Given the description of an element on the screen output the (x, y) to click on. 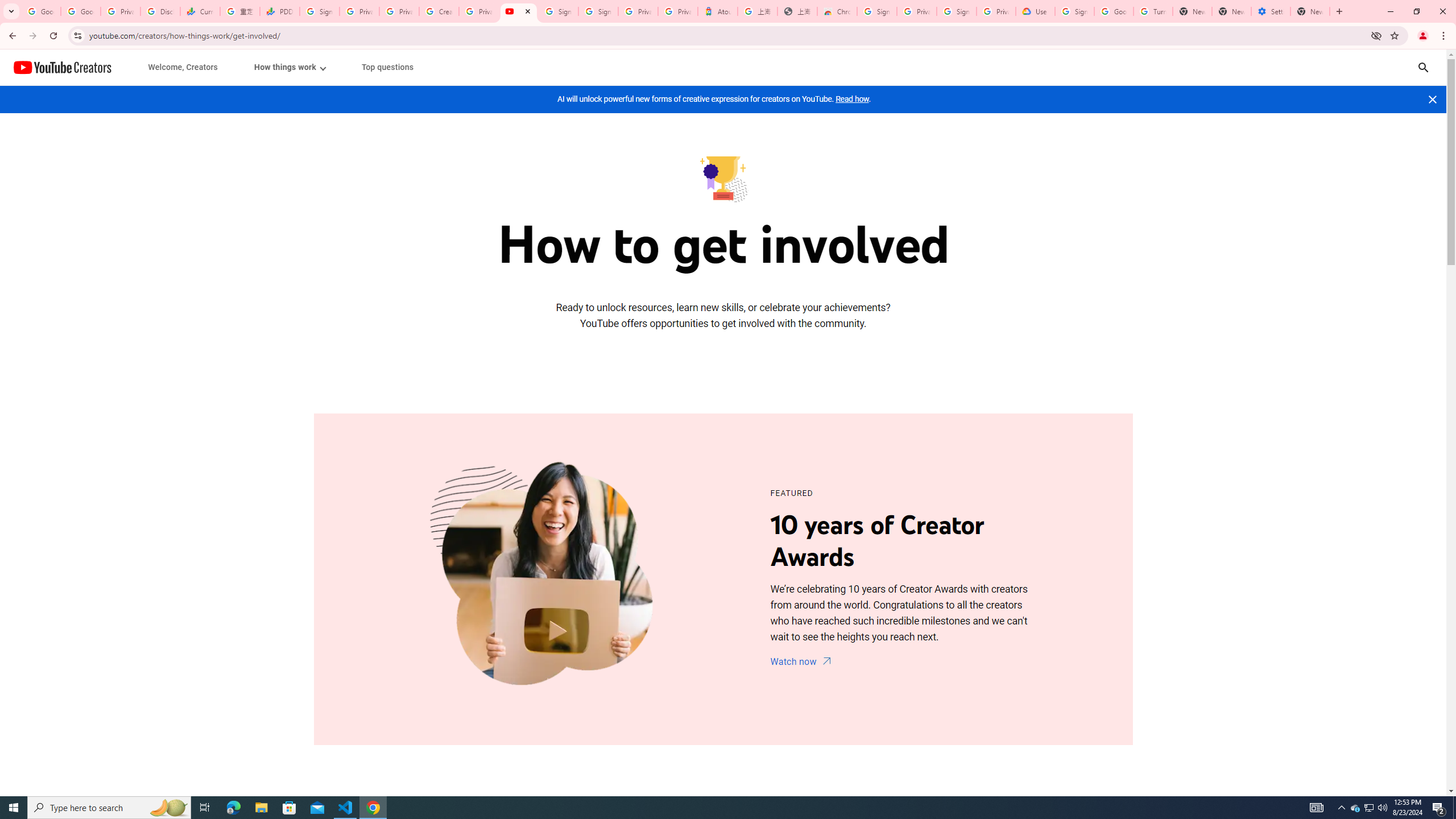
YouTube Creators (62, 67)
Currencies - Google Finance (199, 11)
New Tab (1310, 11)
Home page (62, 67)
Sign in - Google Accounts (1074, 11)
Sign in - Google Accounts (557, 11)
Top questions (387, 67)
